Given the description of an element on the screen output the (x, y) to click on. 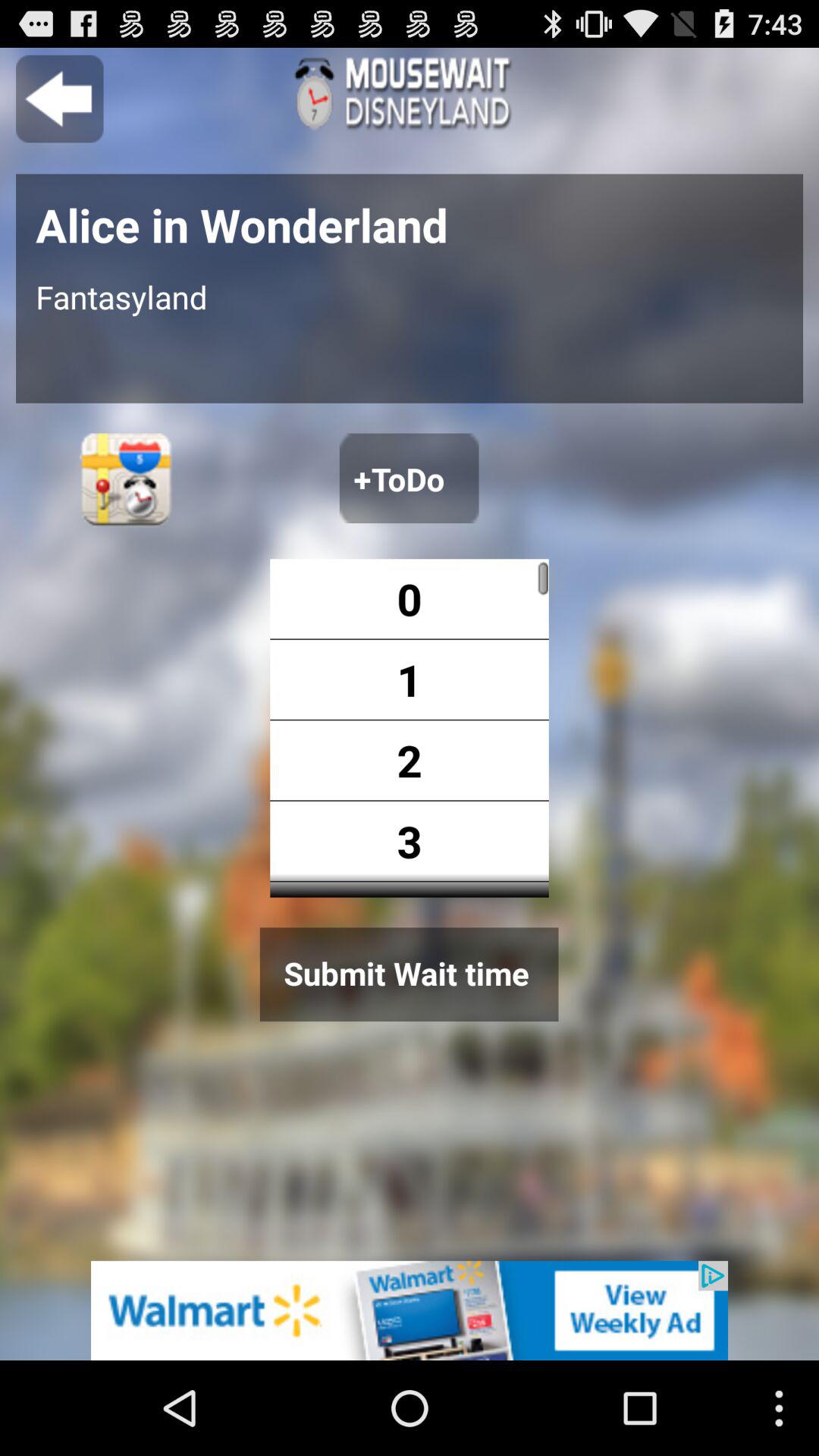
select option (498, 728)
